Given the description of an element on the screen output the (x, y) to click on. 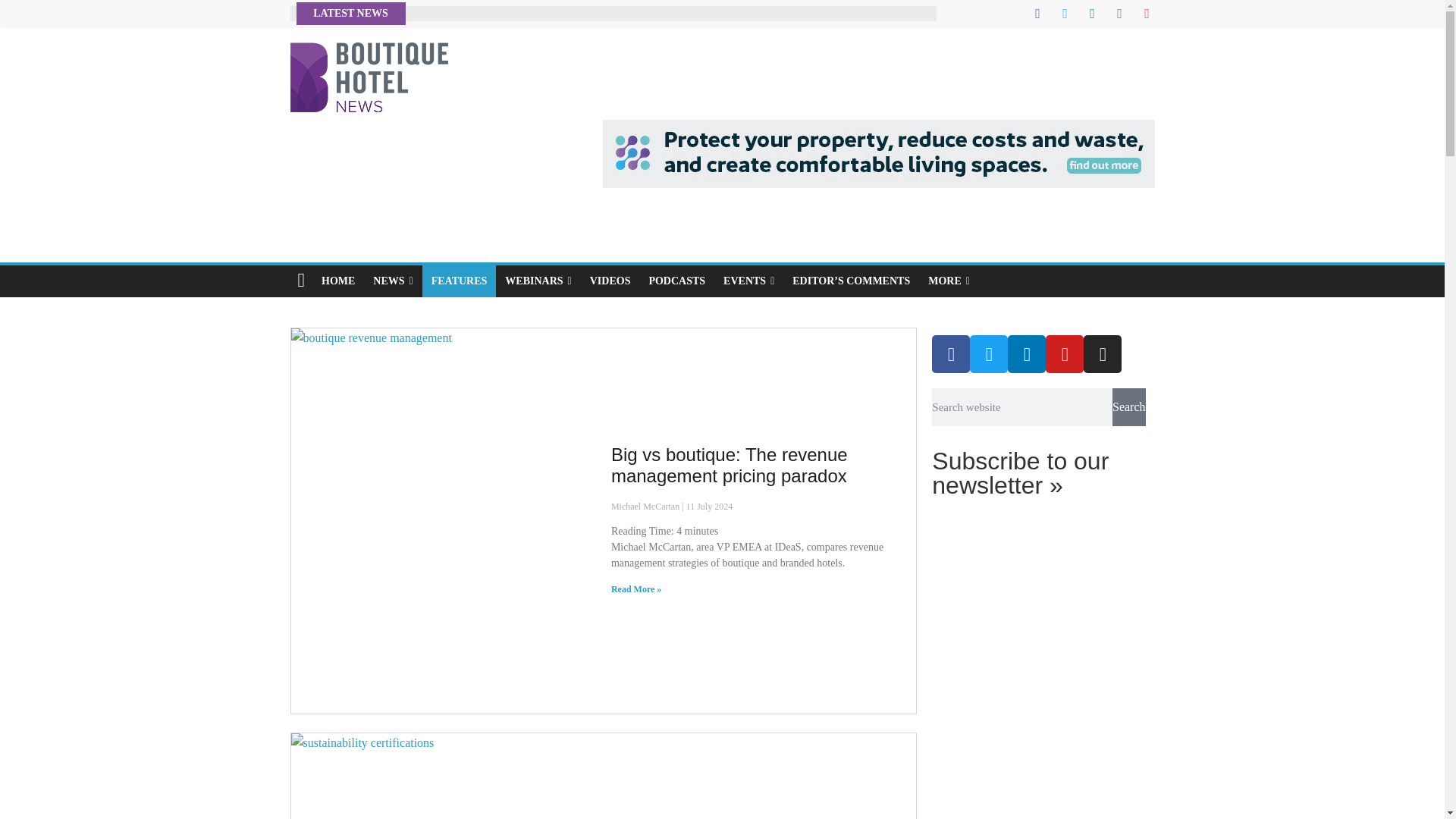
FEATURES (459, 281)
HOME (338, 281)
NEWS (393, 281)
